Given the description of an element on the screen output the (x, y) to click on. 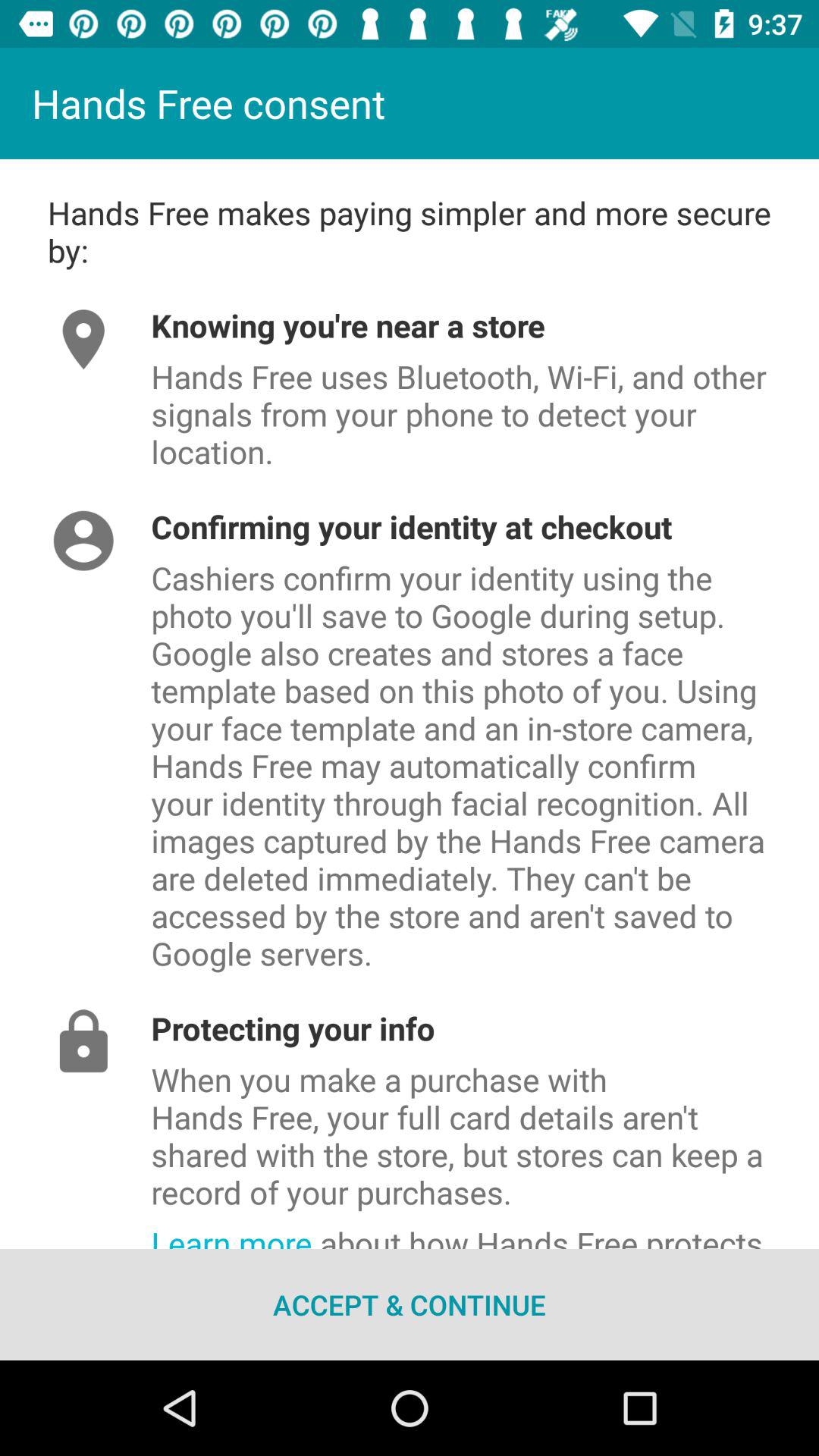
tap the accept & continue item (409, 1304)
